Given the description of an element on the screen output the (x, y) to click on. 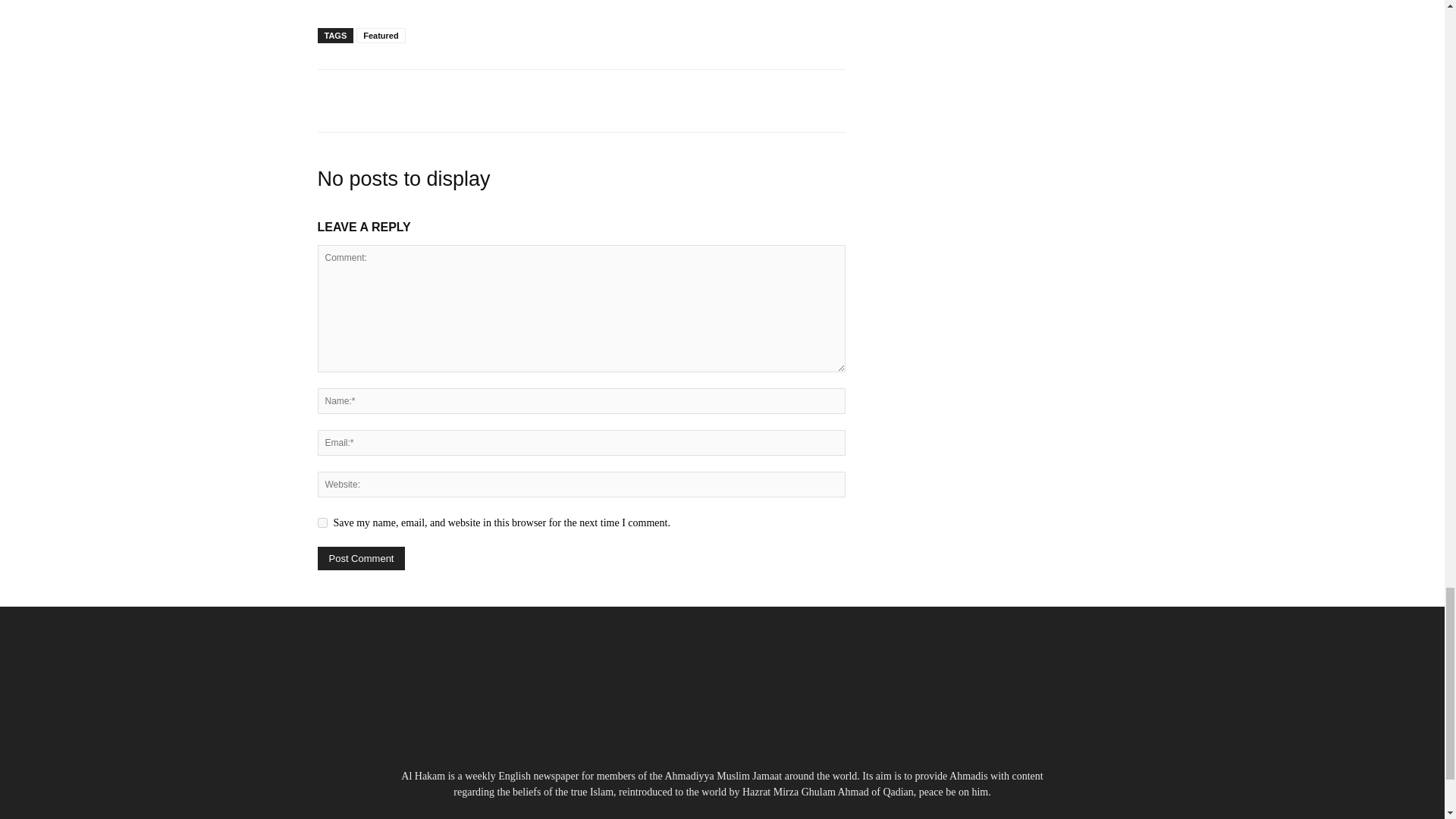
Post Comment (360, 558)
yes (321, 522)
